Given the description of an element on the screen output the (x, y) to click on. 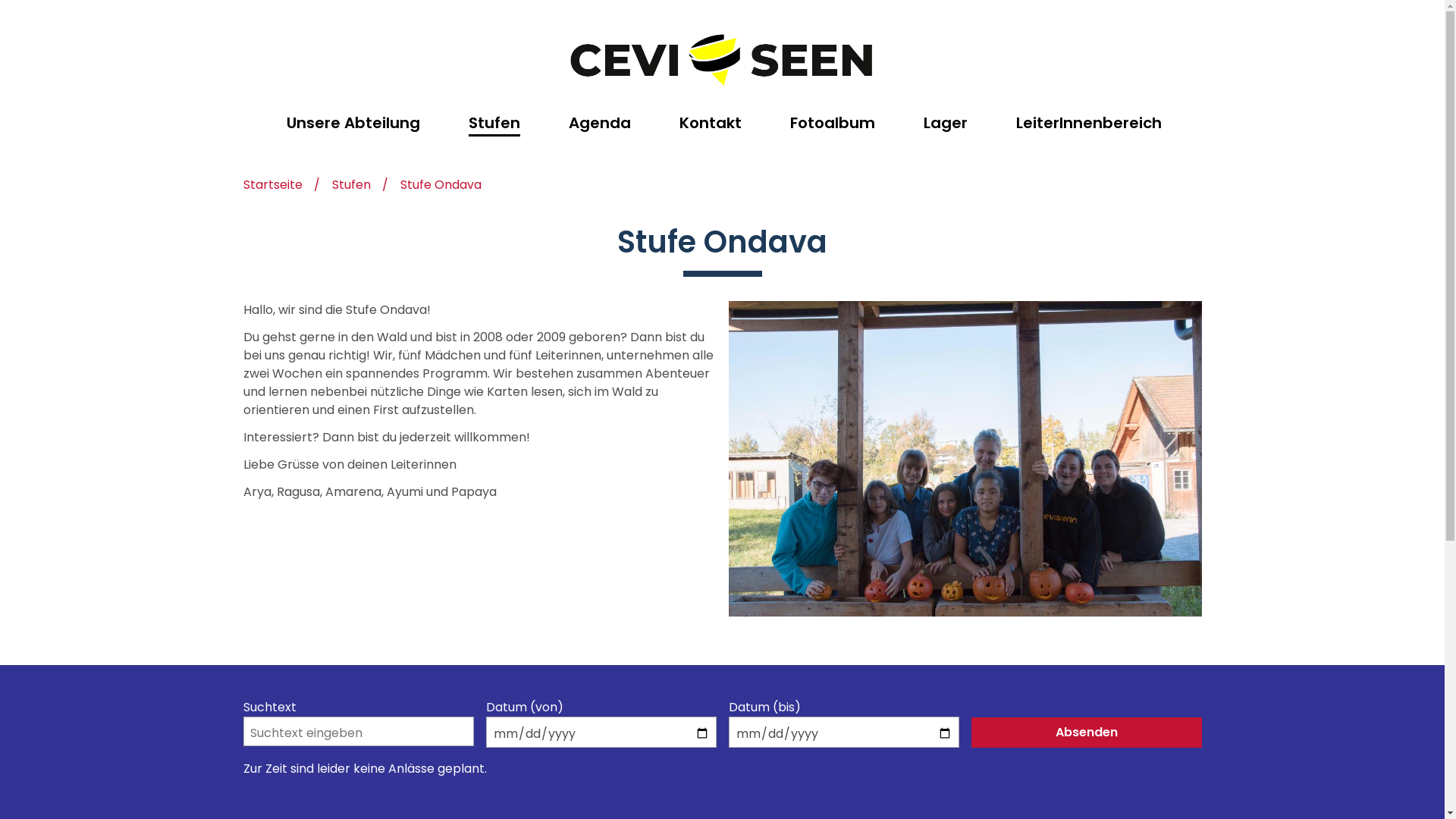
Agenda Element type: text (599, 122)
Stufen Element type: text (494, 122)
Fotoalbum Element type: text (832, 122)
Startseite Element type: text (271, 186)
Unsere Abteilung Element type: text (353, 122)
Lager Element type: text (945, 122)
Stufe Ondava Element type: text (440, 186)
Absenden Element type: text (1085, 732)
Direkt zum Inhalt Element type: text (0, 0)
Stufen Element type: text (351, 186)
Startseite Element type: hover (721, 60)
LeiterInnenbereich Element type: text (1088, 122)
Kontakt Element type: text (710, 122)
Gruppe Ondava Element type: hover (964, 458)
